Given the description of an element on the screen output the (x, y) to click on. 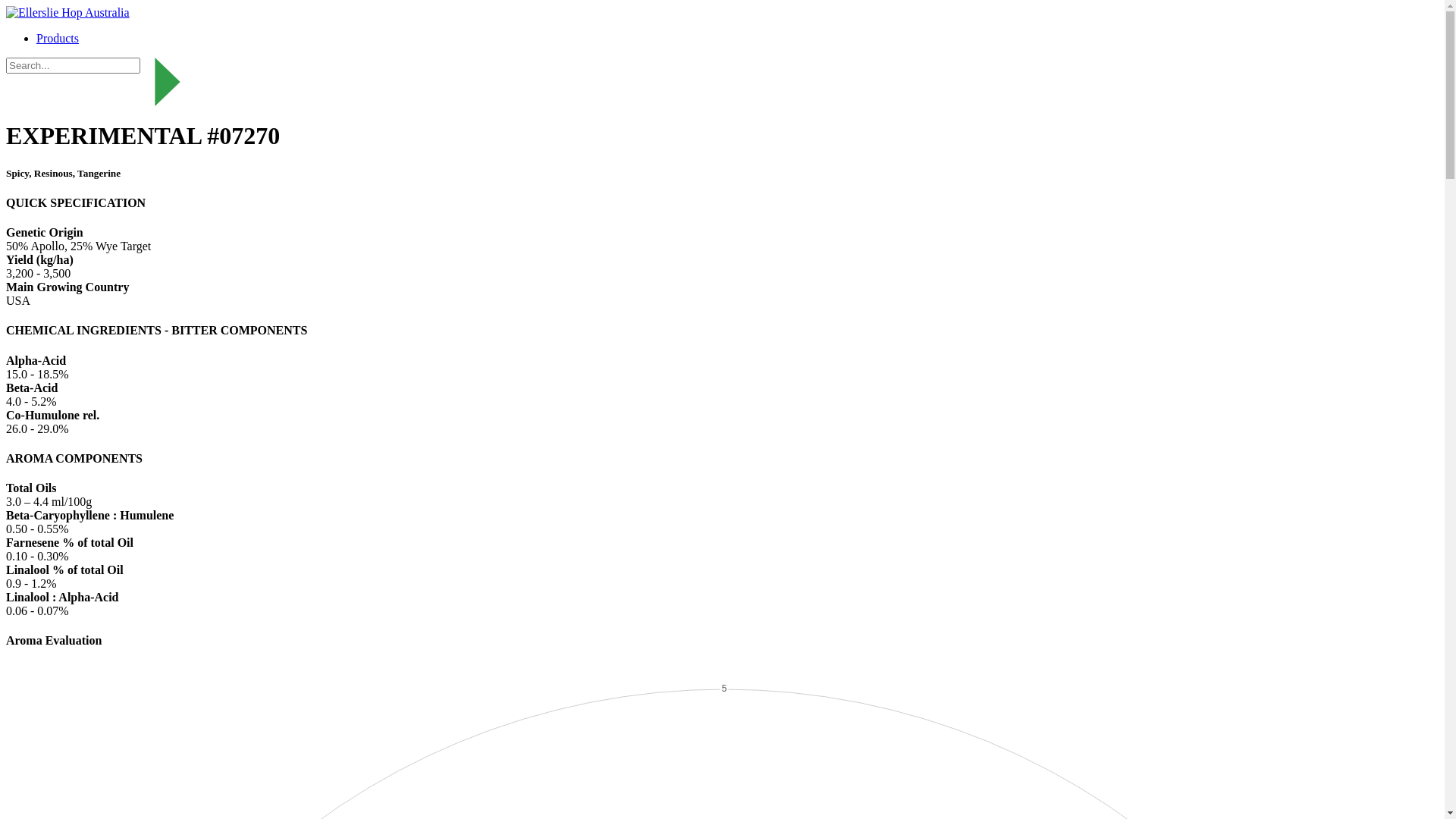
Products Element type: text (57, 37)
